Given the description of an element on the screen output the (x, y) to click on. 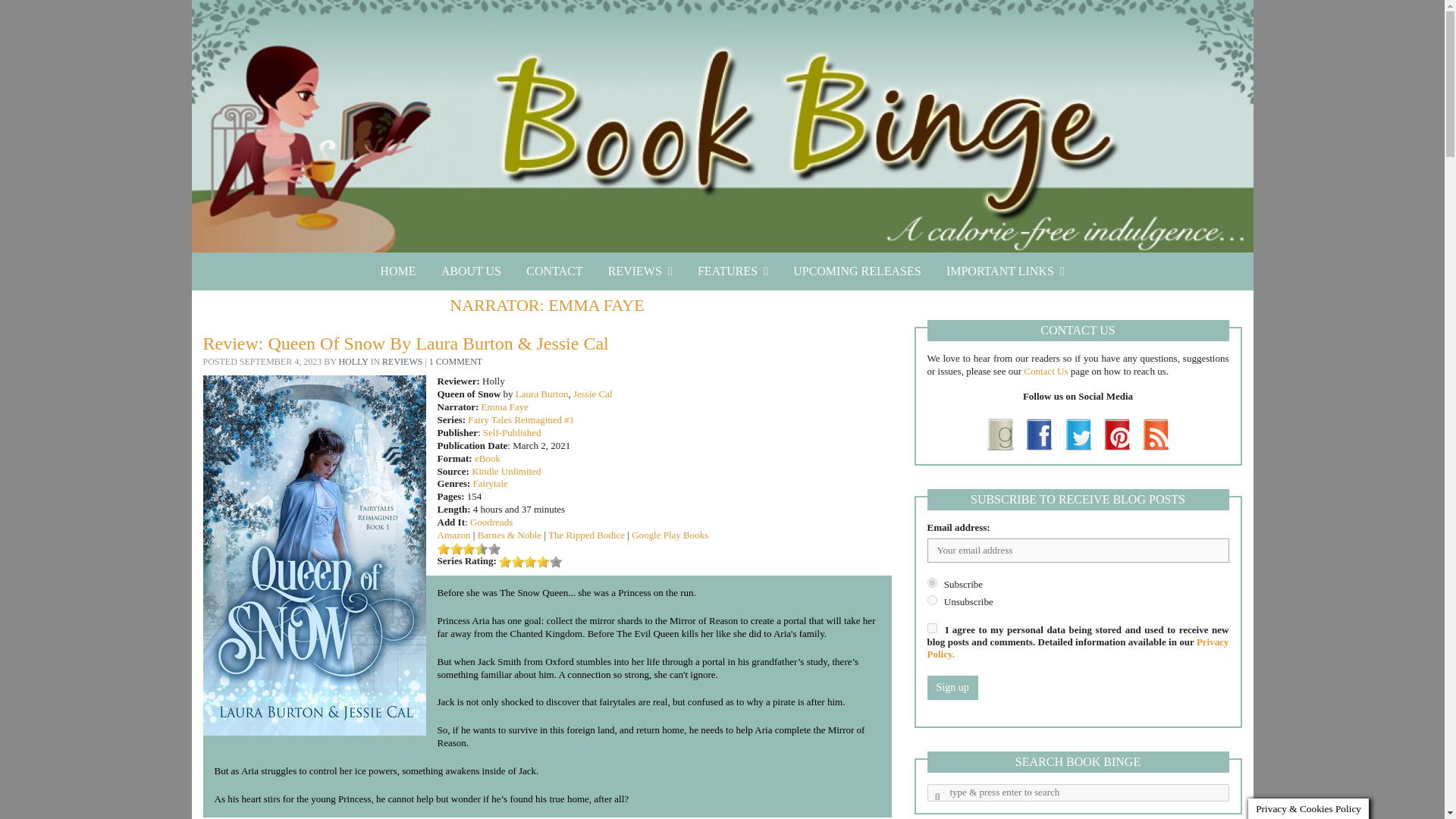
ABOUT US (470, 271)
REVIEWS   (640, 271)
1 (931, 628)
Sign up (951, 687)
subscribe (931, 583)
unsubscribe (931, 600)
CONTACT (554, 271)
View all posts in Reviews (401, 361)
HOME (397, 271)
